Given the description of an element on the screen output the (x, y) to click on. 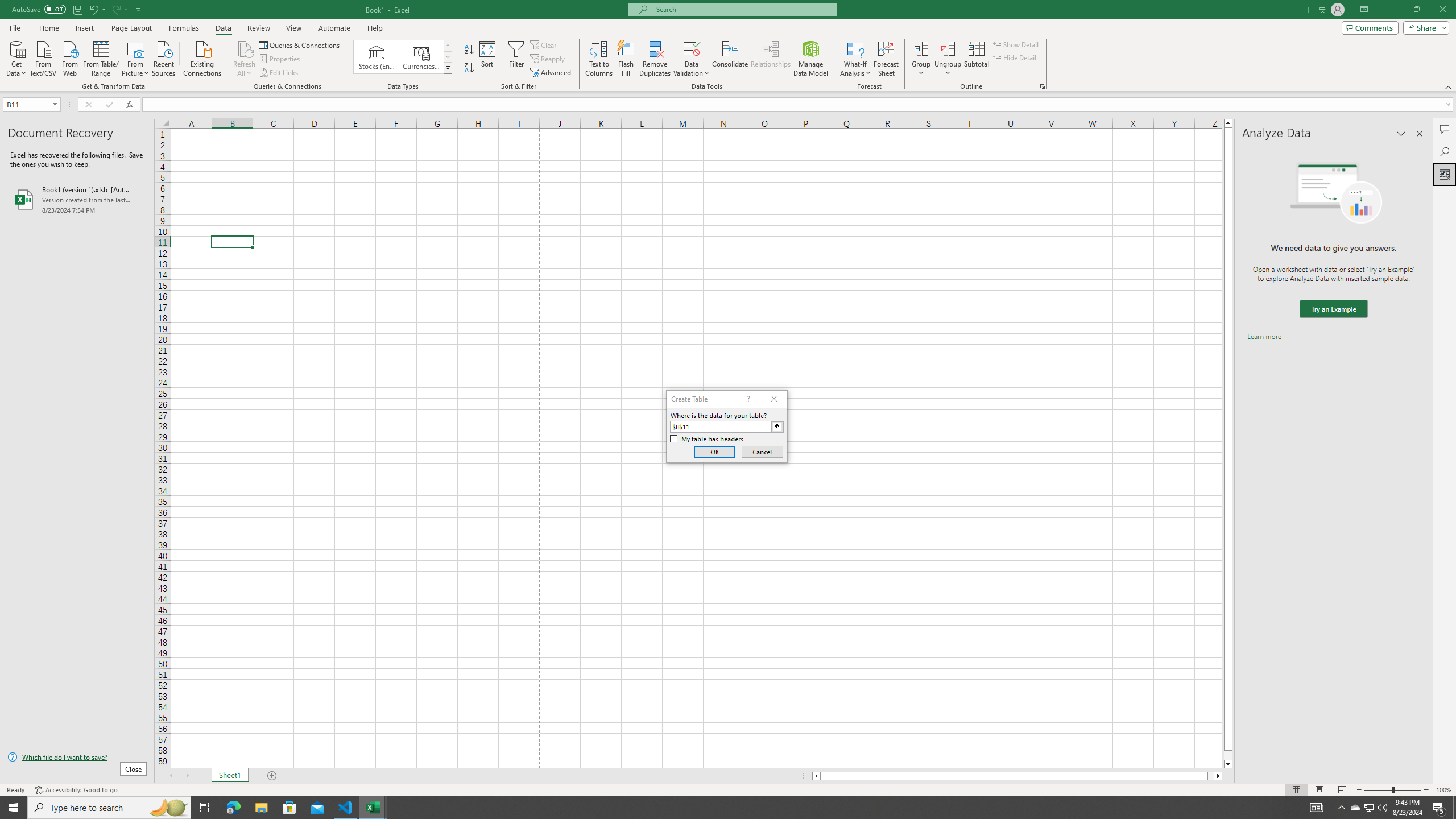
Existing Connections (202, 57)
